Given the description of an element on the screen output the (x, y) to click on. 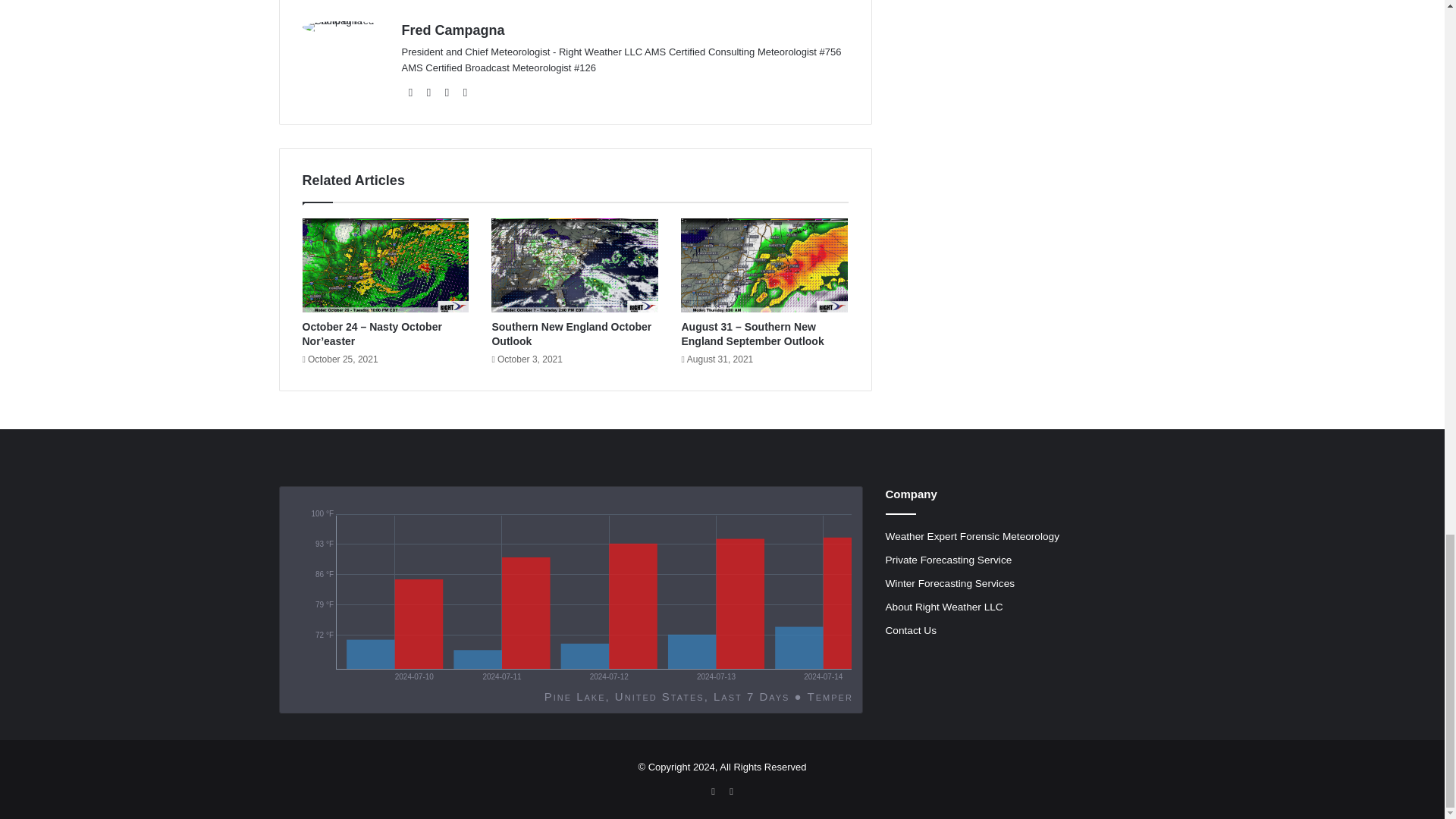
Fred Campagna (453, 29)
